Given the description of an element on the screen output the (x, y) to click on. 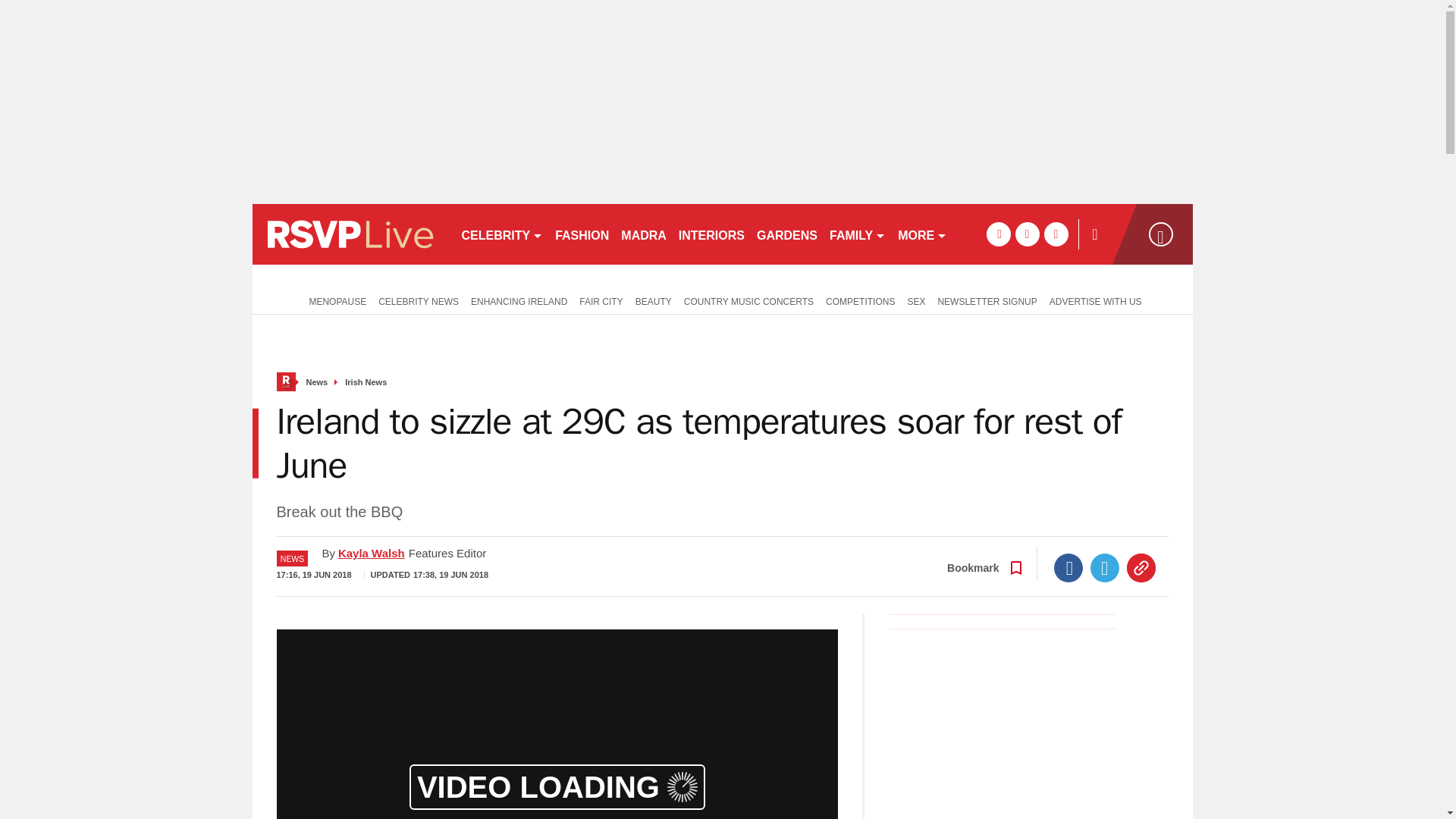
twitter (1026, 233)
INTERIORS (711, 233)
FASHION (581, 233)
FAMILY (857, 233)
CELEBRITY (501, 233)
Facebook (1068, 567)
MADRA (643, 233)
facebook (997, 233)
instagram (1055, 233)
MORE (922, 233)
GARDENS (787, 233)
Twitter (1104, 567)
rsvp (348, 233)
